Given the description of an element on the screen output the (x, y) to click on. 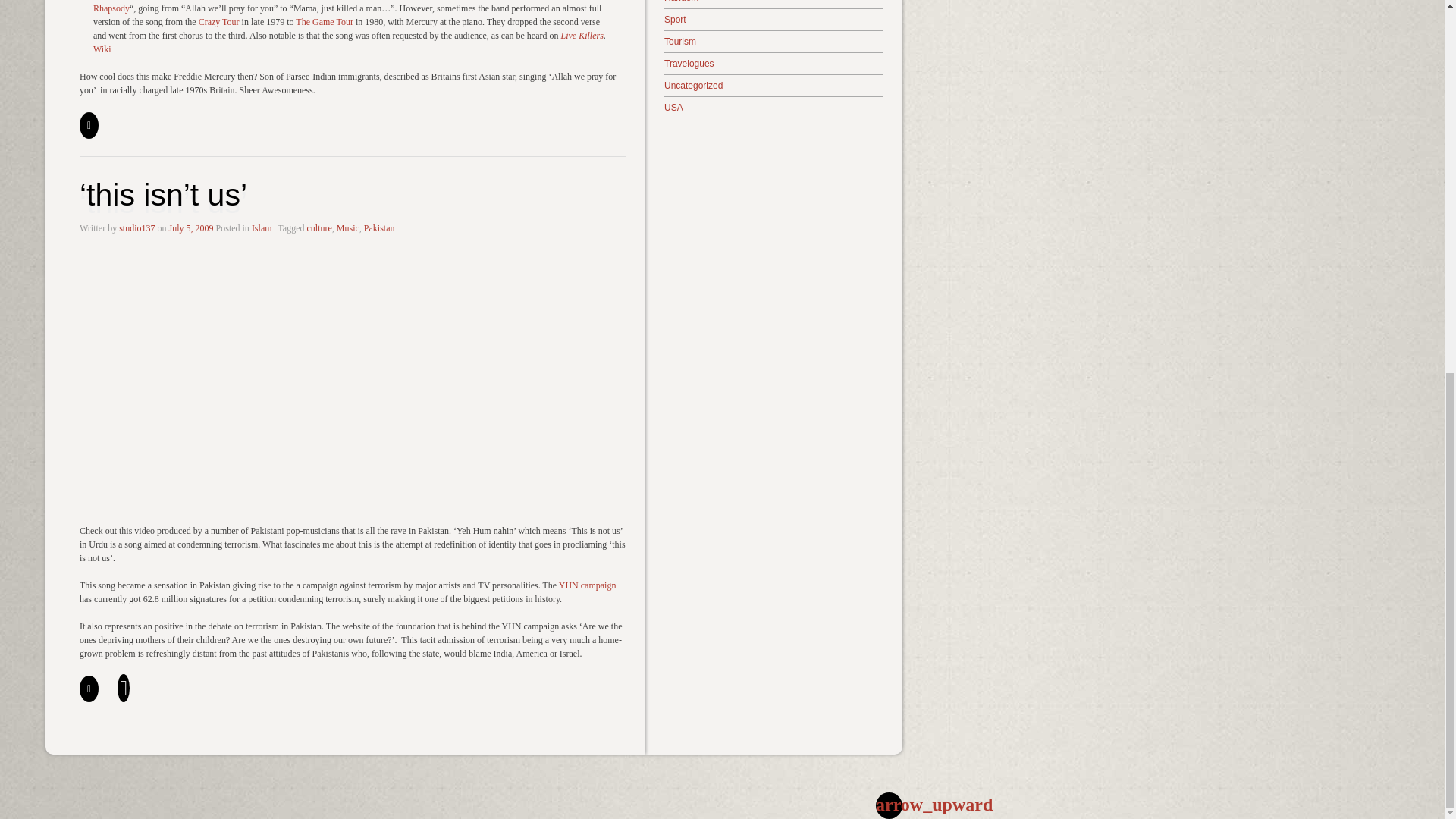
Live Killers (582, 35)
Crazy Tour (219, 21)
Music (347, 227)
Crazy Tour (219, 21)
Wiki (102, 49)
Islam (261, 227)
Bohemian Rhapsody (336, 6)
Live Killers (582, 35)
Bohemian Rhapsody (336, 6)
YHN campaign (587, 584)
studio137 (136, 227)
Pakistan (379, 227)
The Game Tour (324, 21)
July 5, 2009 (191, 227)
The Game Tour (324, 21)
